Given the description of an element on the screen output the (x, y) to click on. 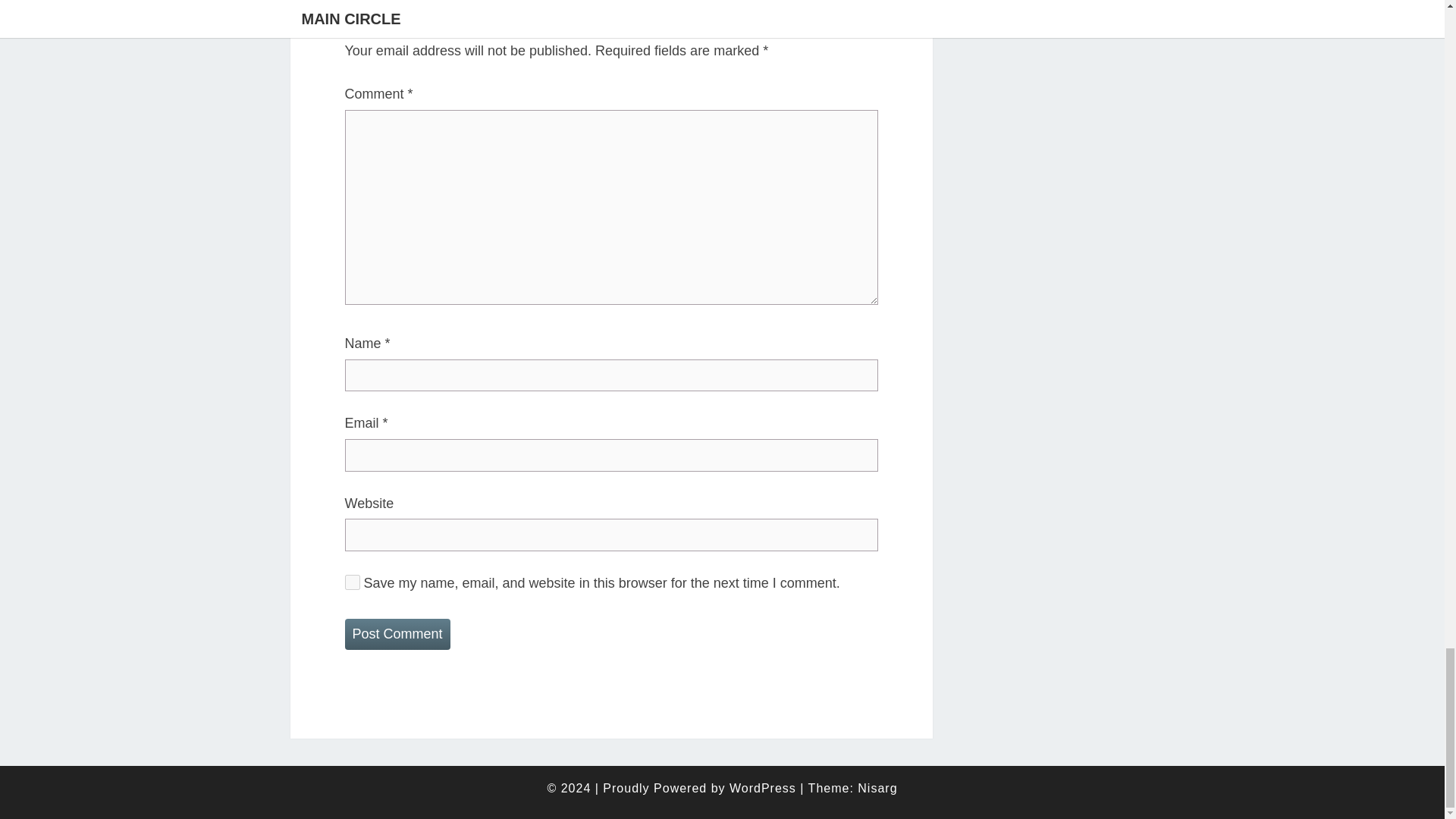
WordPress (762, 788)
Nisarg (876, 788)
Post Comment (396, 634)
Post Comment (396, 634)
yes (351, 581)
